Given the description of an element on the screen output the (x, y) to click on. 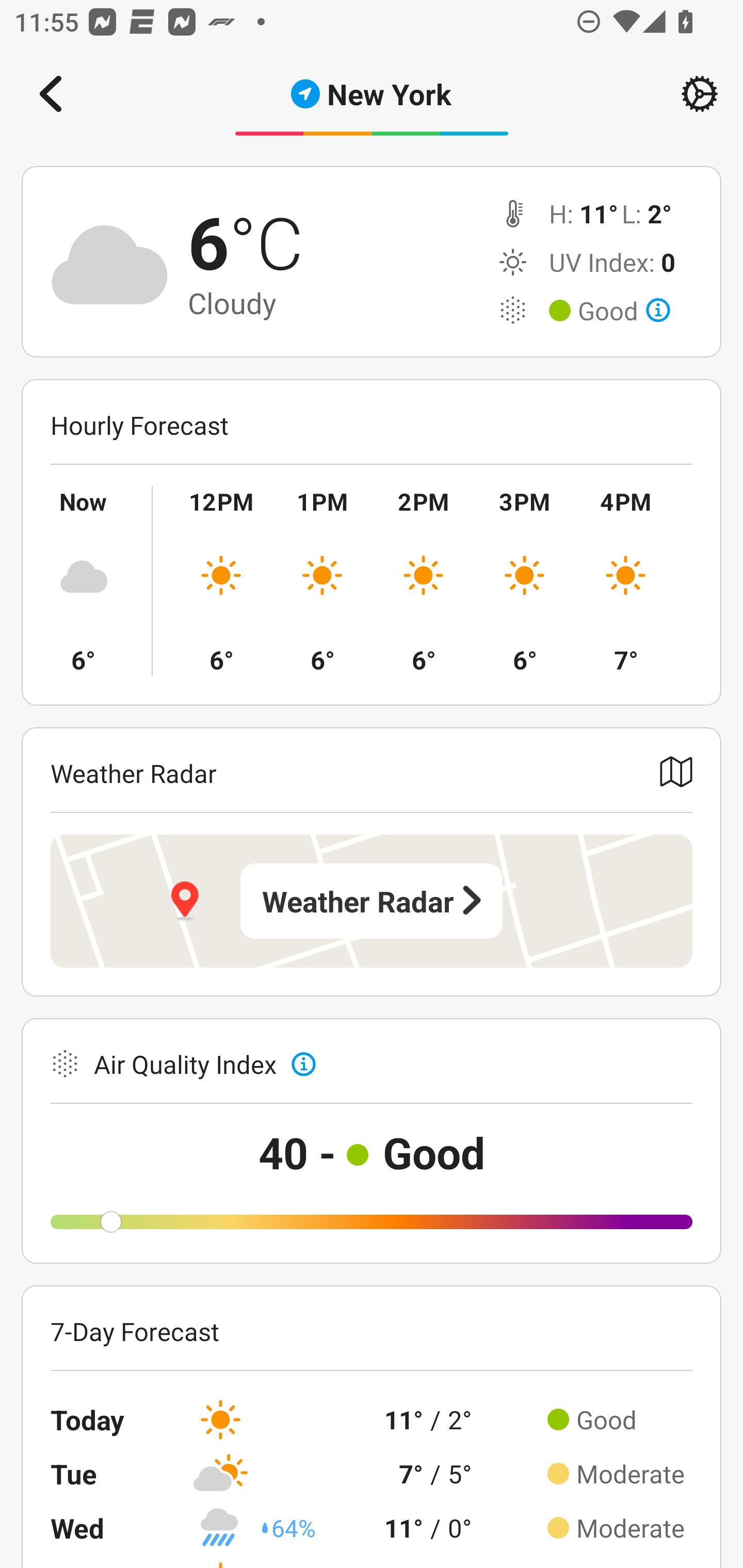
Navigate up (50, 93)
Setting (699, 93)
Good (624, 310)
Weather Radar (371, 900)
